Given the description of an element on the screen output the (x, y) to click on. 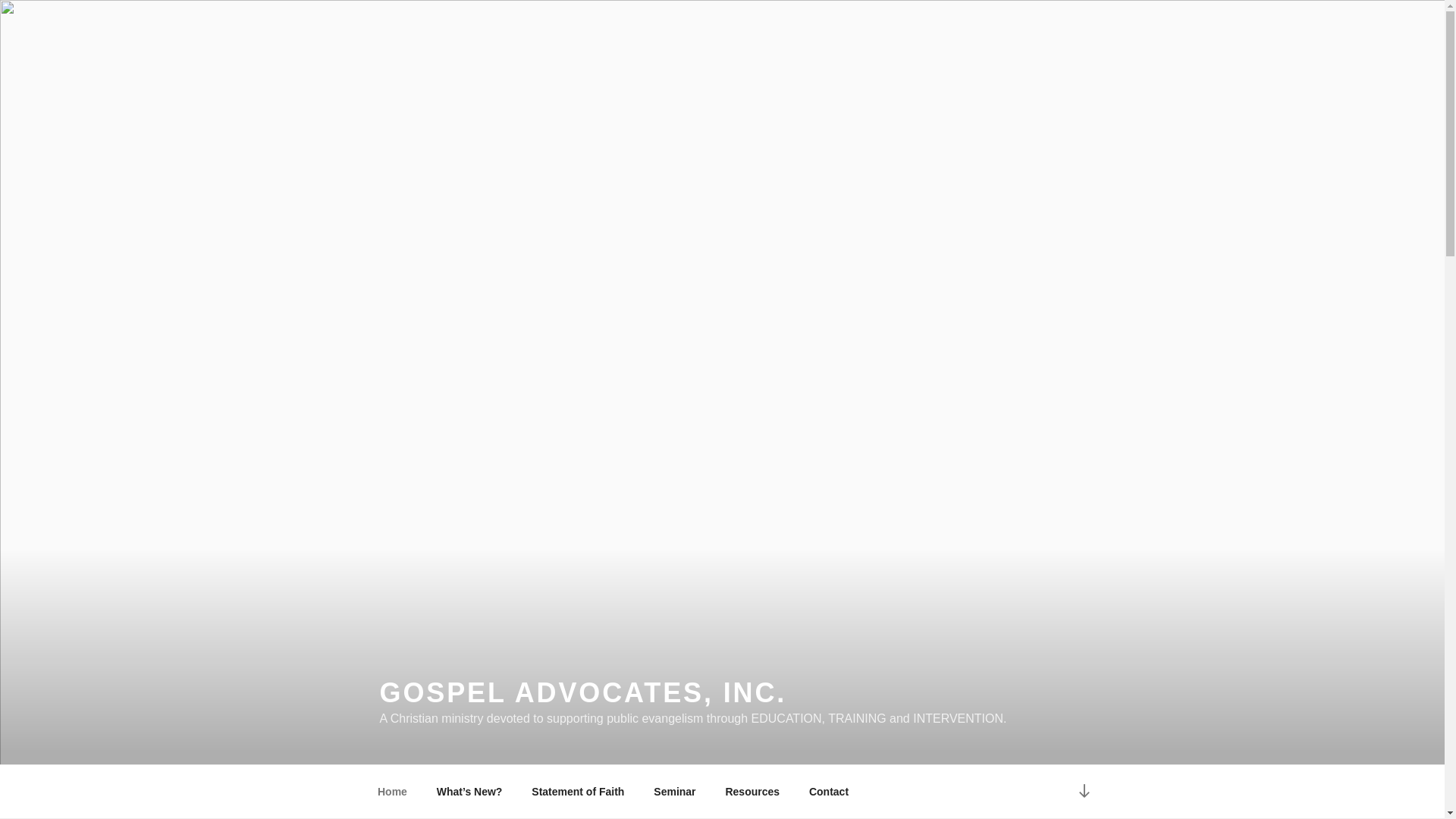
Resources (752, 791)
Statement of Faith (577, 791)
GOSPEL ADVOCATES, INC. (582, 692)
Seminar (674, 791)
Scroll down to content (1082, 791)
Home (392, 791)
Scroll down to content (1082, 791)
Contact (827, 791)
